Given the description of an element on the screen output the (x, y) to click on. 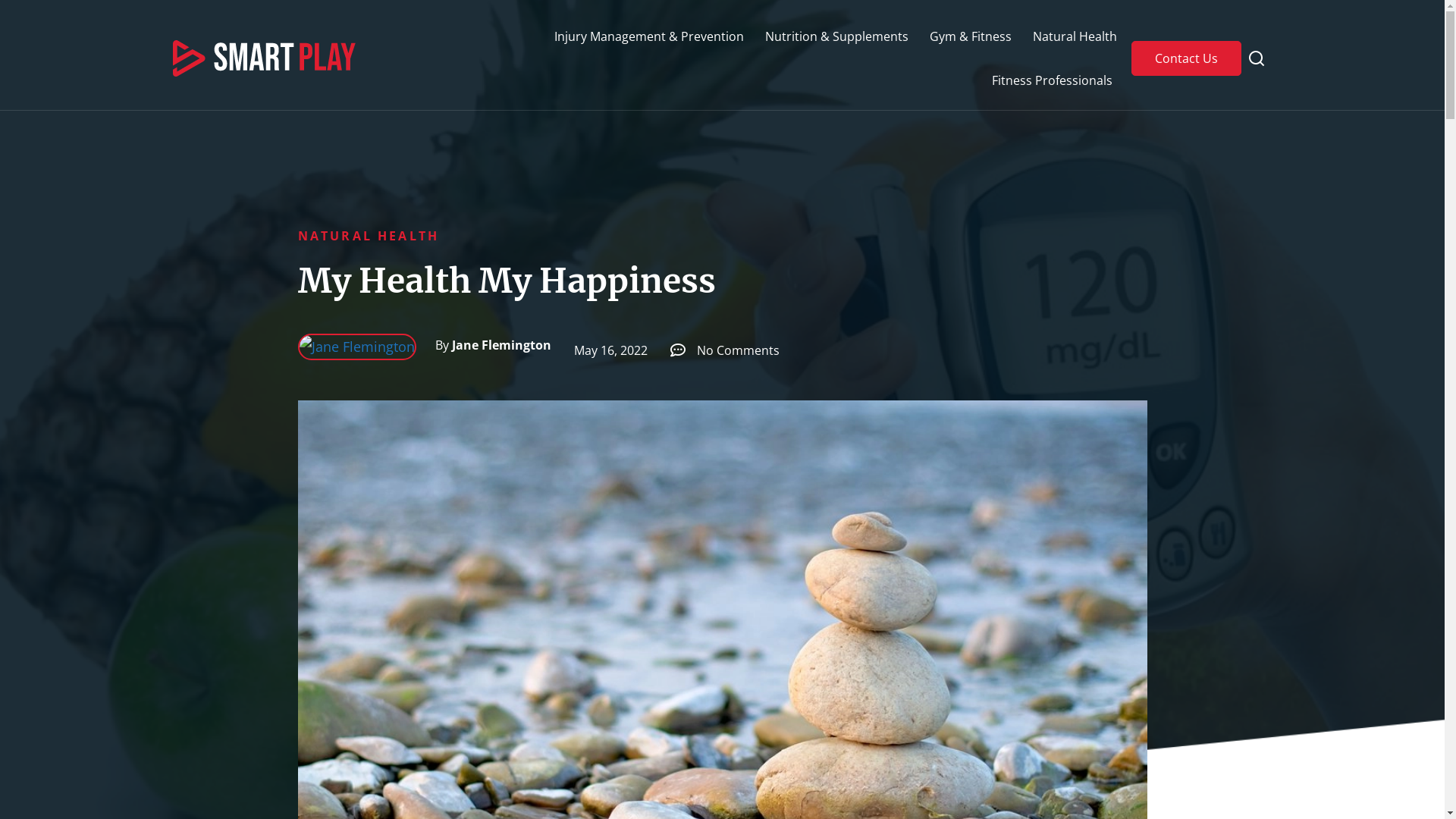
Contact Us Element type: text (1186, 57)
Injury Management & Prevention Element type: text (649, 36)
Gym & Fitness Element type: text (970, 36)
Nutrition & Supplements Element type: text (836, 36)
No Comments Element type: text (724, 350)
Jane Flemington Element type: text (493, 344)
May 16, 2022 Element type: text (604, 350)
Natural Health Element type: text (1074, 36)
Fitness Professionals Element type: text (1051, 80)
